Given the description of an element on the screen output the (x, y) to click on. 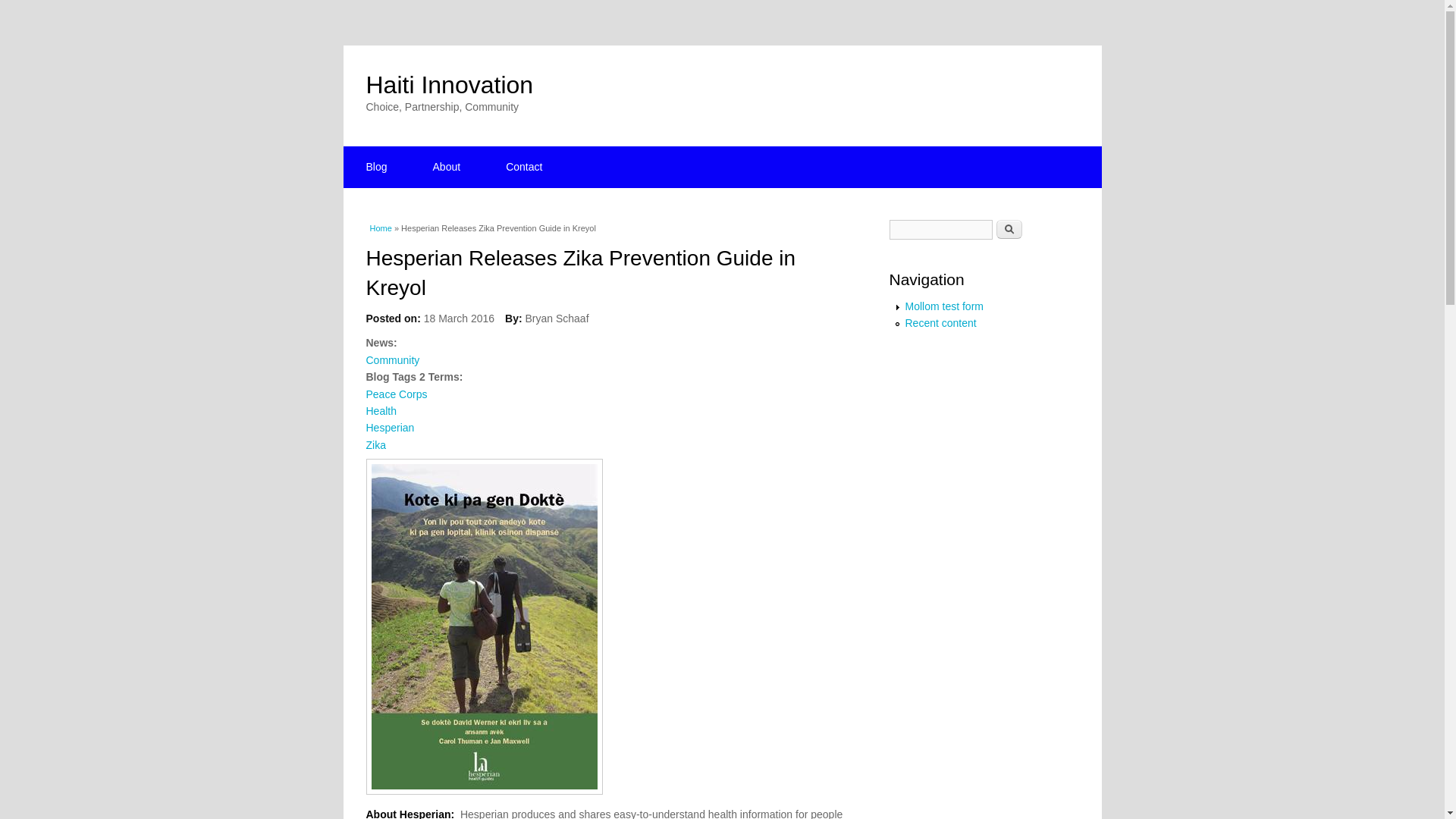
Blog (375, 167)
Community (392, 359)
Health (380, 410)
Contact (523, 167)
Zika (375, 444)
Search (1008, 229)
Haiti Innovation (448, 84)
About (446, 167)
Home (380, 227)
Hesperian (389, 427)
